Given the description of an element on the screen output the (x, y) to click on. 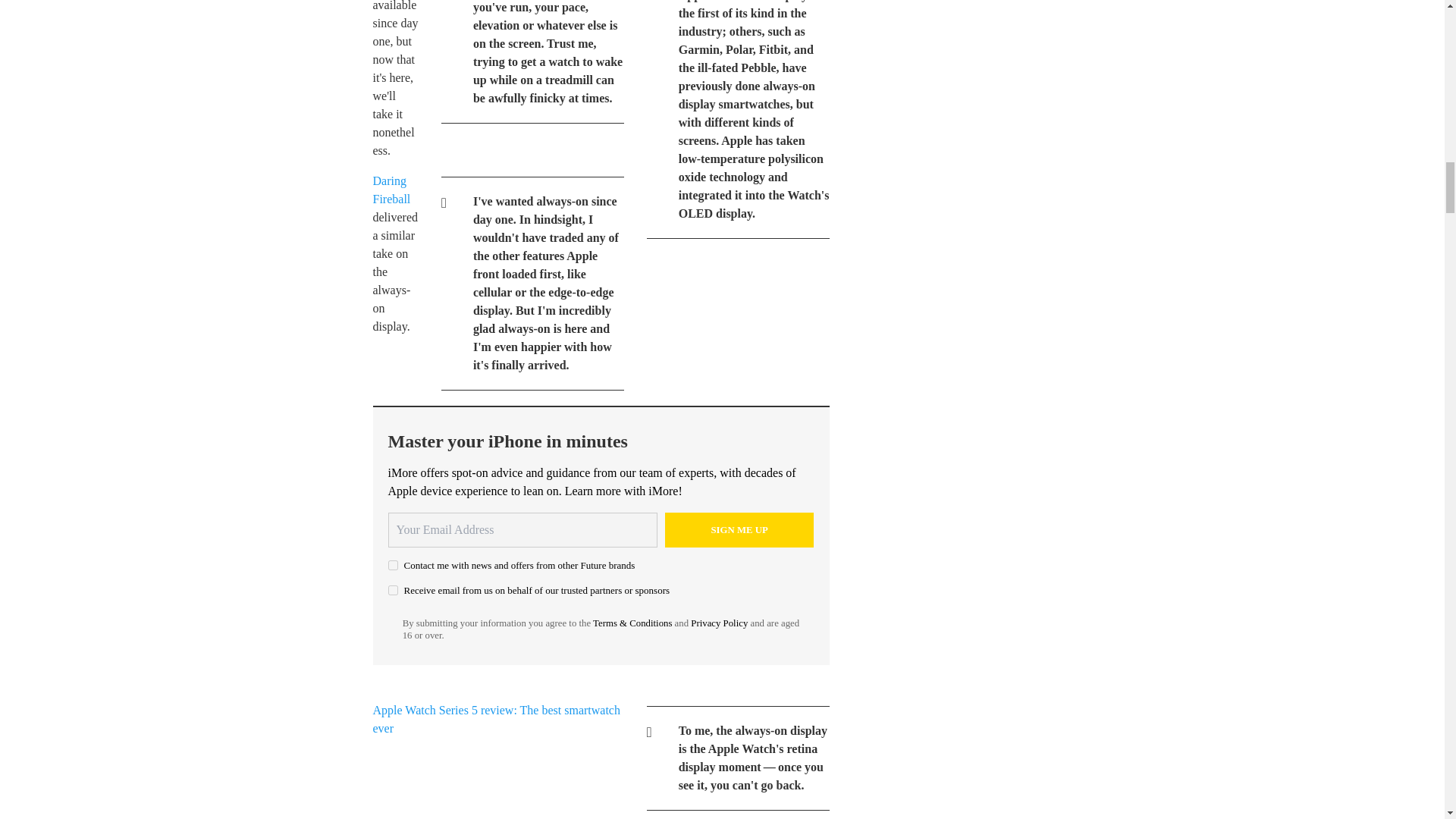
Sign me up (739, 529)
on (392, 565)
on (392, 590)
